Given the description of an element on the screen output the (x, y) to click on. 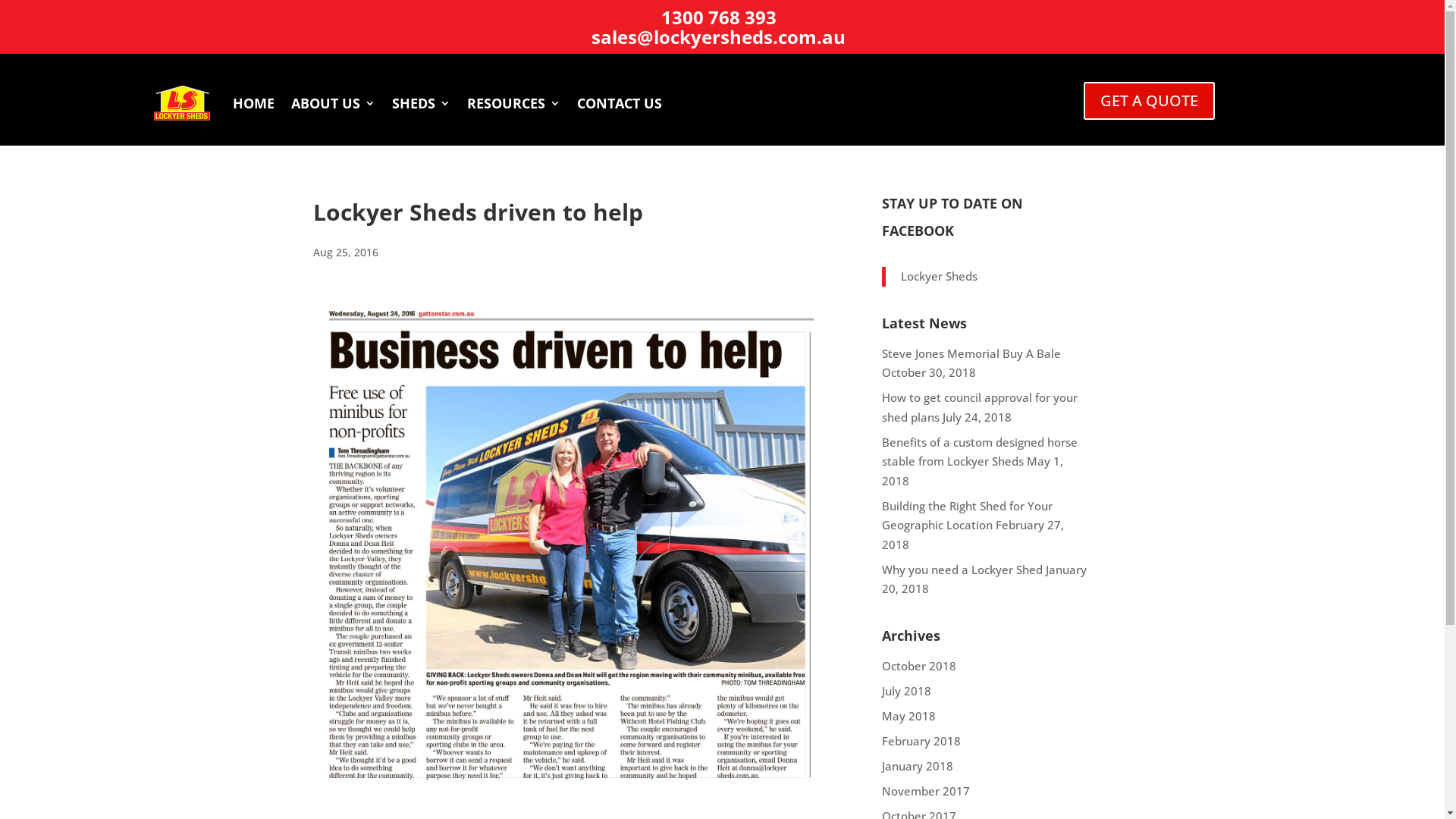
November 2017 Element type: text (925, 789)
Lockyer Sheds Element type: text (938, 275)
January 2018 Element type: text (916, 765)
October 2018 Element type: text (918, 665)
Building the Right Shed for Your Geographic Location Element type: text (966, 514)
GET A QUOTE Element type: text (1148, 100)
1300 768 393 Element type: text (718, 16)
How to get council approval for your shed plans Element type: text (978, 406)
ABOUT US Element type: text (333, 102)
Steve Jones Memorial Buy A Bale Element type: text (970, 352)
RESOURCES Element type: text (513, 102)
CONTACT US Element type: text (619, 102)
HOME Element type: text (253, 102)
May 2018 Element type: text (908, 715)
February 2018 Element type: text (920, 739)
July 2018 Element type: text (905, 689)
SHEDS Element type: text (421, 102)
sales@lockyersheds.com.au Element type: text (718, 36)
Why you need a Lockyer Shed Element type: text (961, 568)
